Given the description of an element on the screen output the (x, y) to click on. 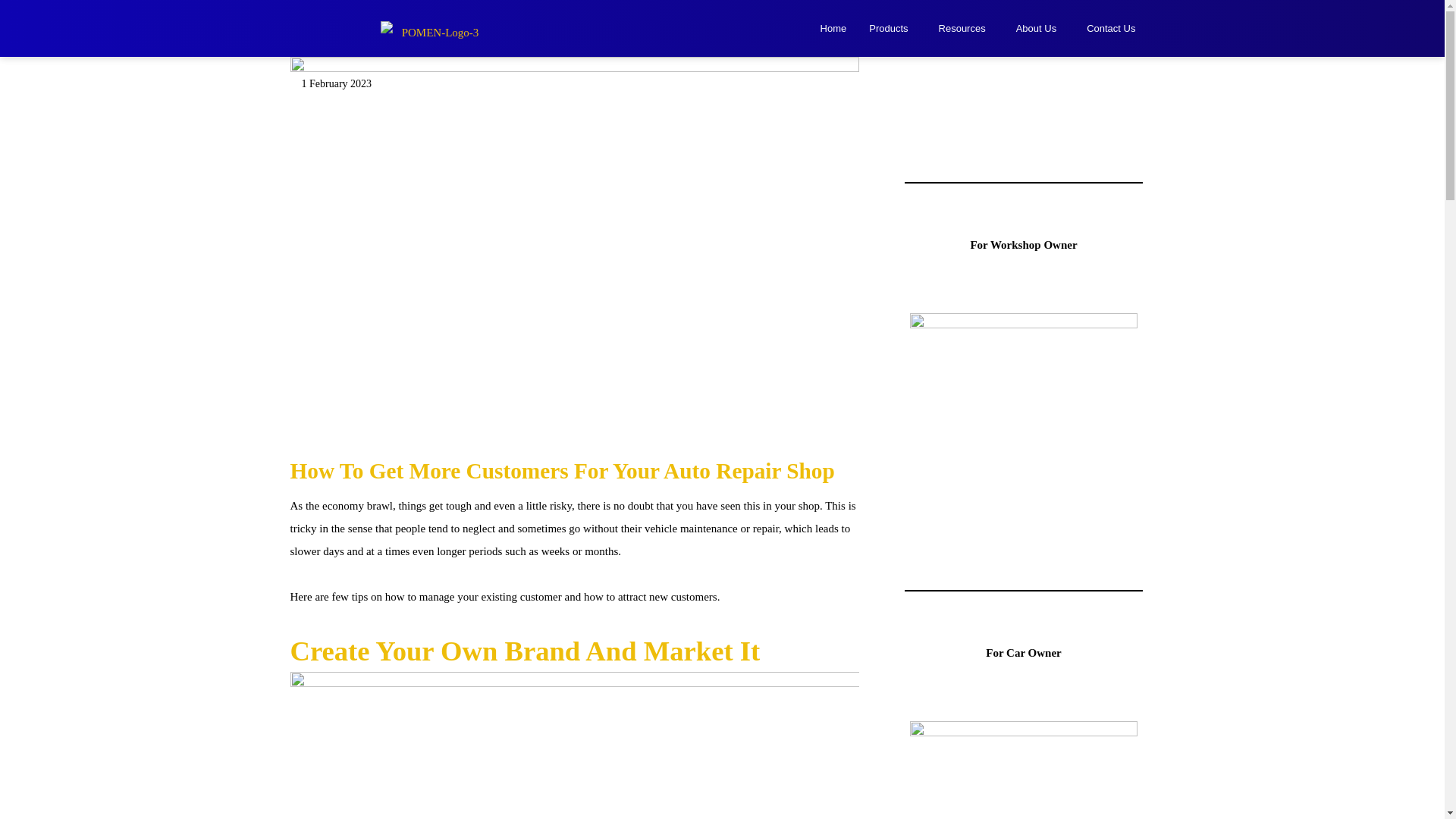
Resources (965, 28)
Home (834, 28)
1 February 2023 (336, 83)
Products (891, 28)
About Us (1039, 28)
How To Get More Customers For Your Auto Repair Shop (561, 470)
POMEN-Logo-3 (433, 29)
Contact Us (1111, 28)
